Given the description of an element on the screen output the (x, y) to click on. 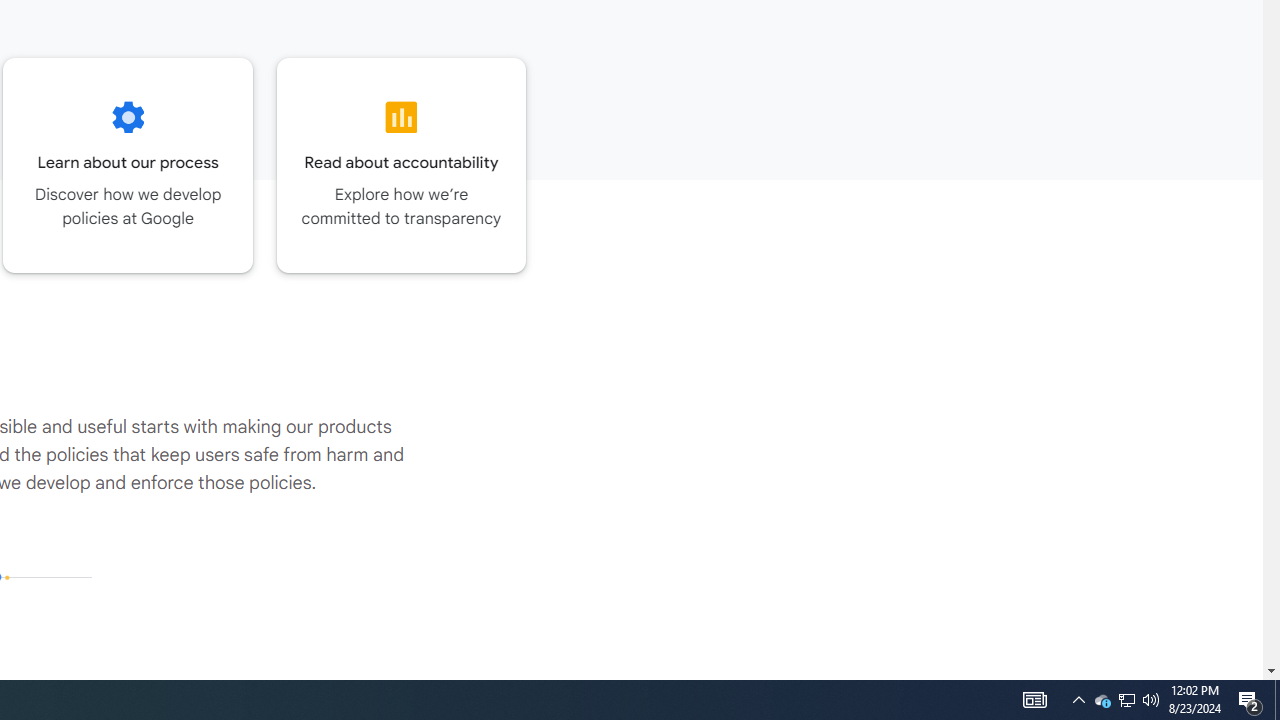
Go to the Our process page (127, 165)
Go to the Accountability page (401, 165)
